Given the description of an element on the screen output the (x, y) to click on. 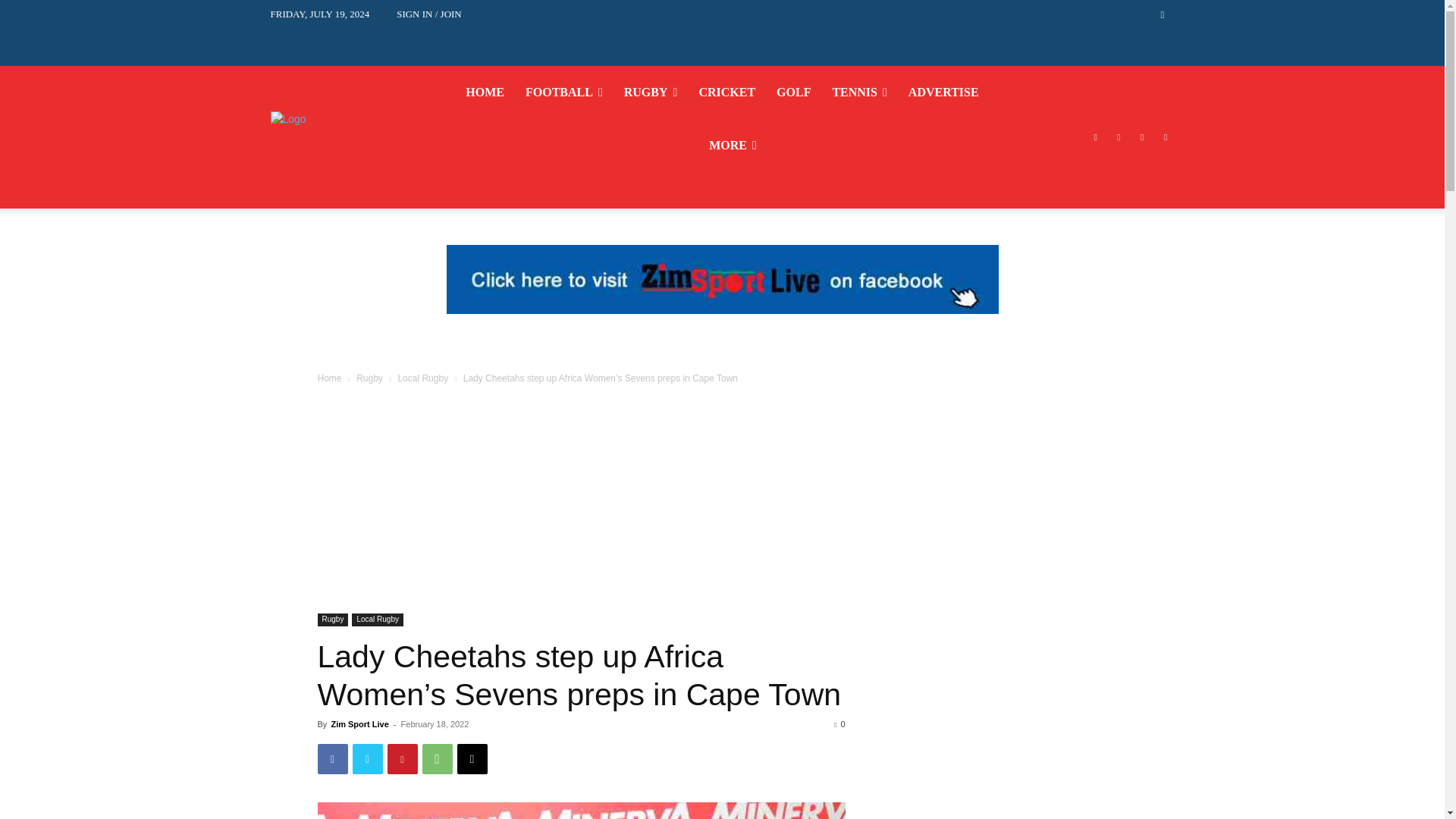
FOOTBALL (563, 92)
RUGBY (651, 92)
